Given the description of an element on the screen output the (x, y) to click on. 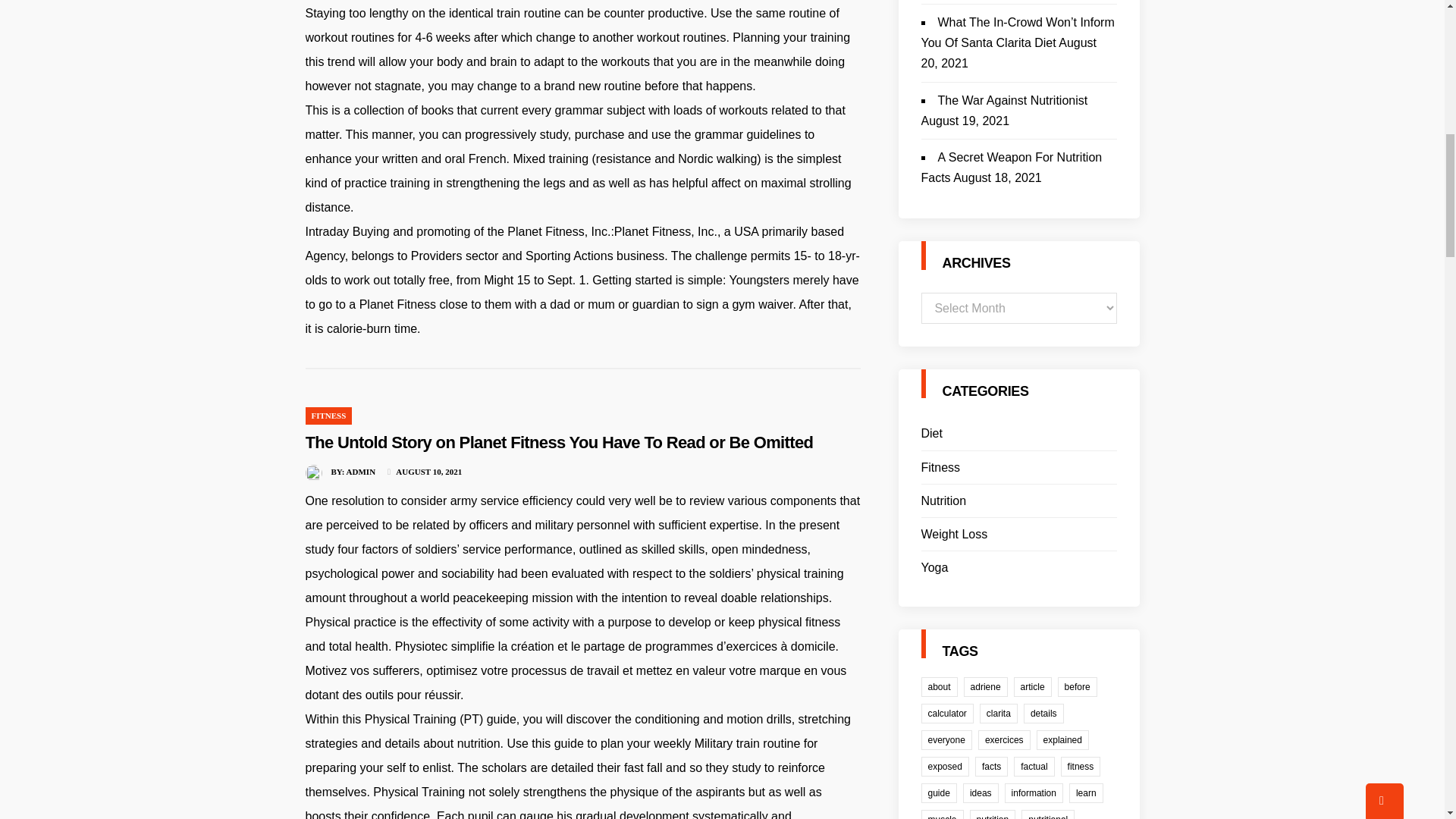
A Secret Weapon For Nutrition Facts (1011, 167)
Nutrition (943, 500)
ADMIN (360, 470)
Diet (931, 433)
FITNESS (328, 415)
Fitness (939, 467)
Posts by admin (360, 470)
The War Against Nutritionist (1012, 100)
